Given the description of an element on the screen output the (x, y) to click on. 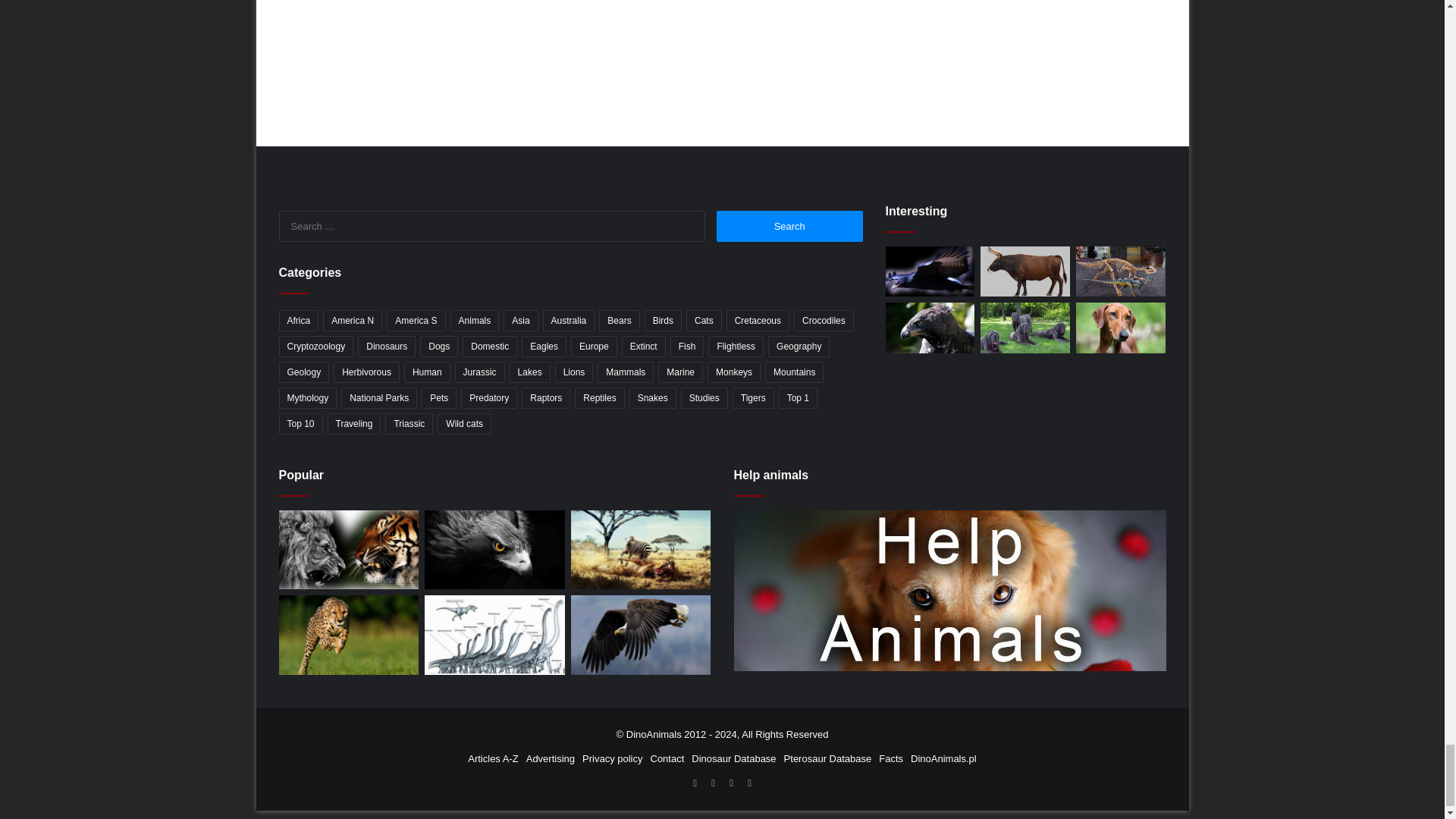
Search (789, 225)
Search (789, 225)
